Given the description of an element on the screen output the (x, y) to click on. 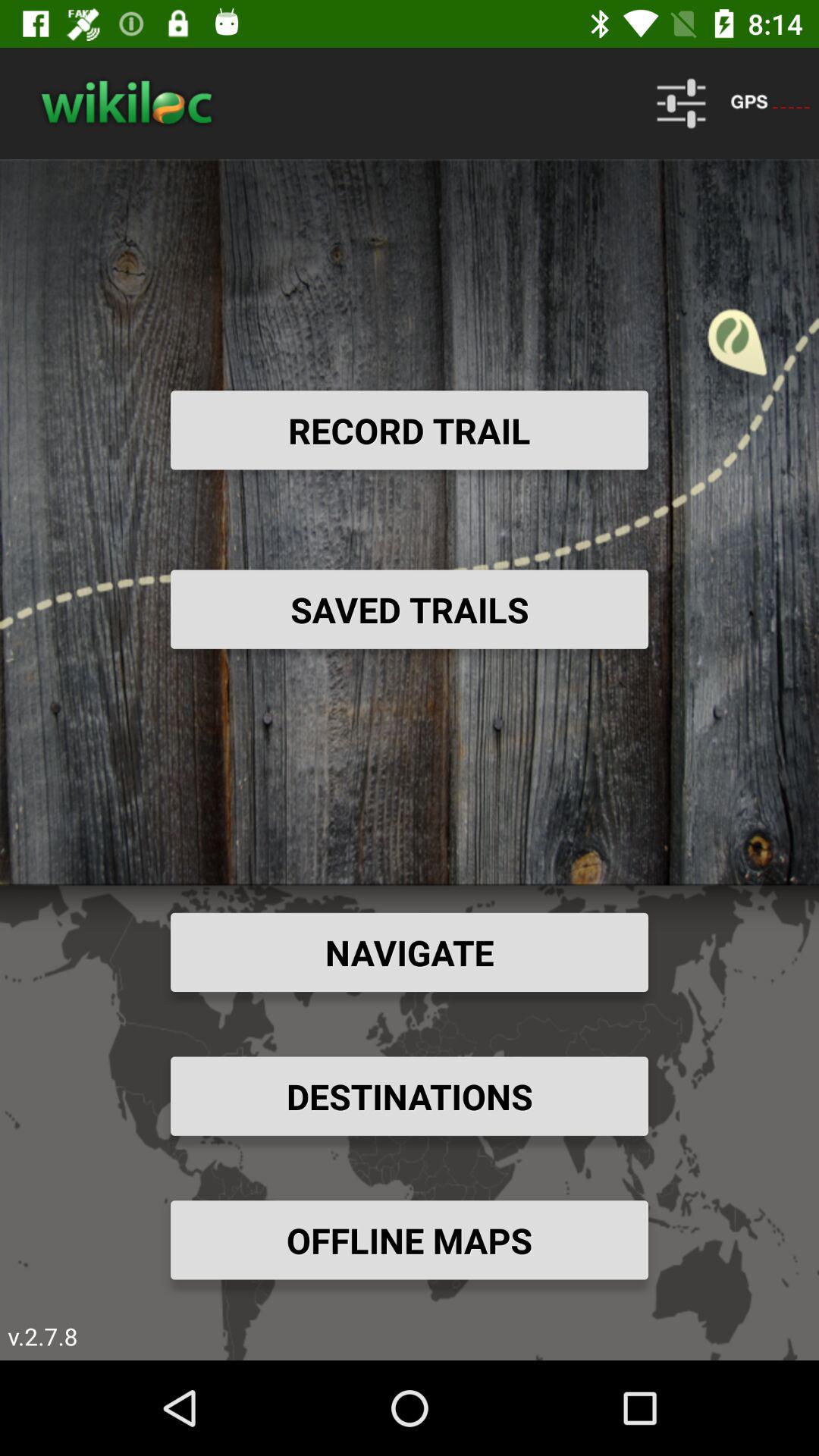
swipe to saved trails icon (409, 608)
